Given the description of an element on the screen output the (x, y) to click on. 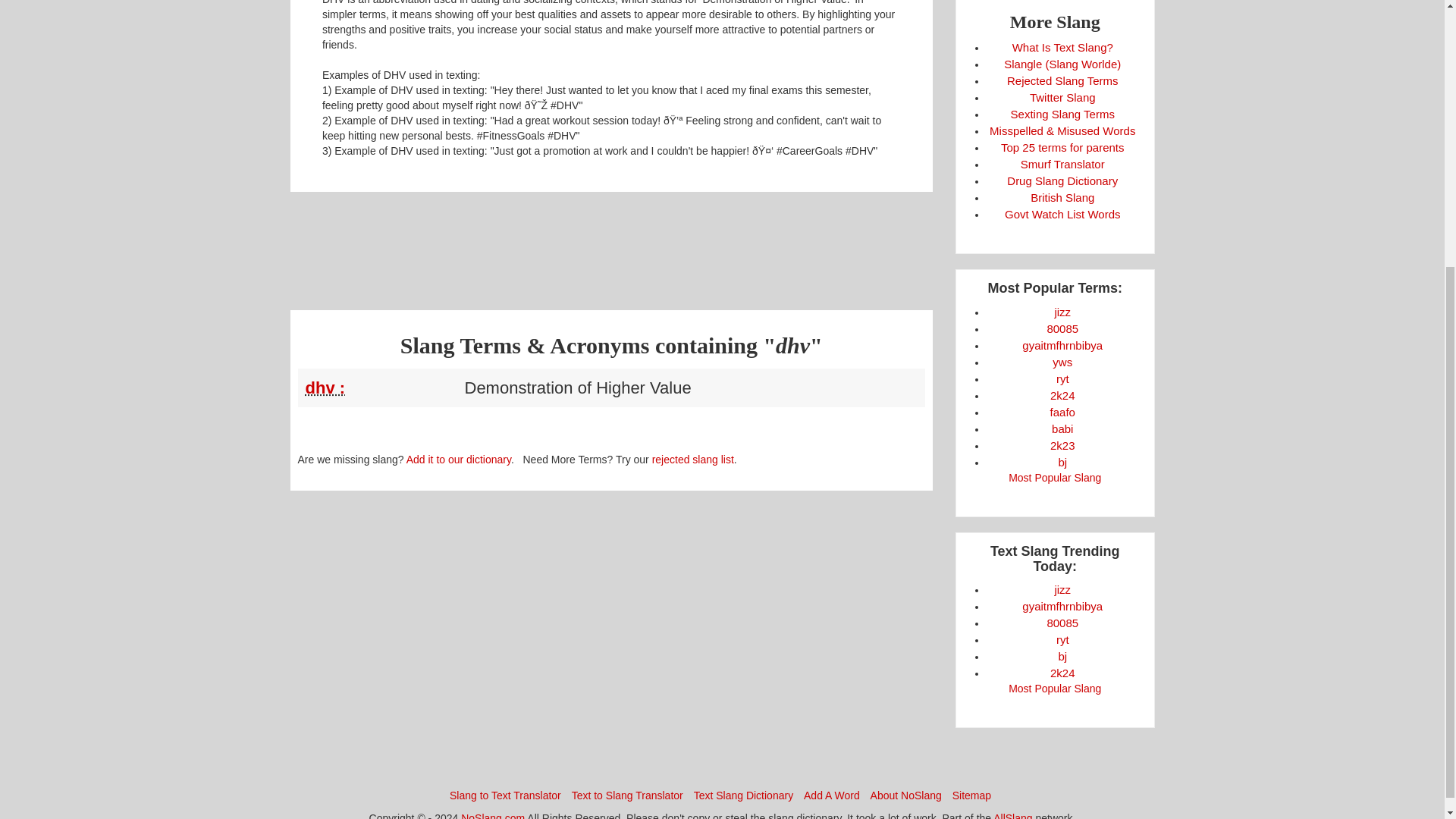
Demonstration of Higher Value (380, 387)
Boobs (1062, 622)
Most Popular Slang (1054, 477)
right (1062, 639)
Twitter Slang (1062, 97)
babi (1062, 428)
Govt Watch List Words (1062, 214)
faafo (1062, 411)
jizz (1062, 589)
rejected slang list (692, 459)
baby (1062, 428)
80085 (1062, 328)
fuck around and find out (1062, 411)
jizz (1062, 311)
2024 (1062, 395)
